Given the description of an element on the screen output the (x, y) to click on. 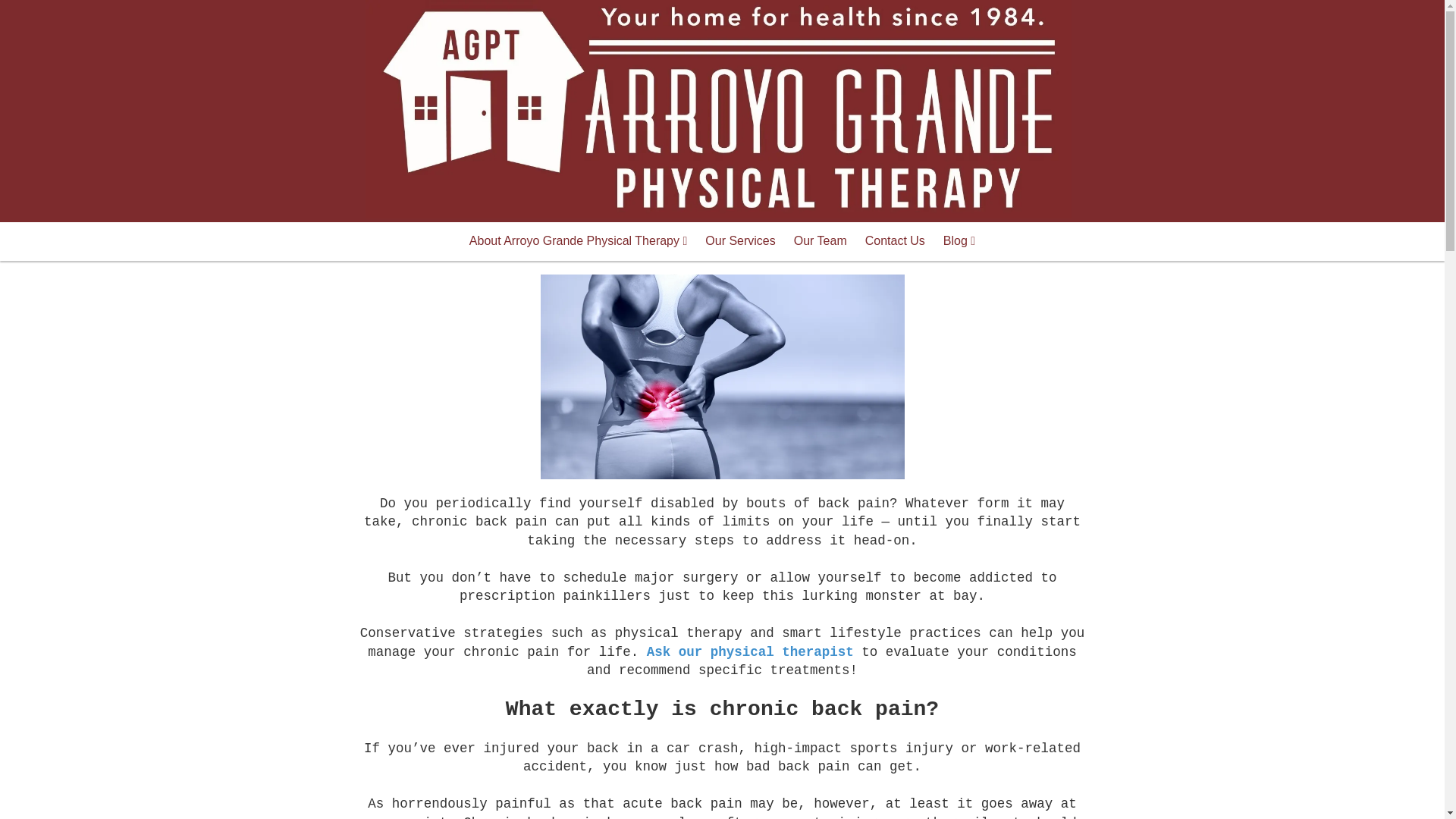
Our Services (739, 241)
Ask our physical therapist (749, 652)
Blog (959, 241)
About Arroyo Grande Physical Therapy (577, 241)
Our Team (820, 241)
Contact Us (895, 241)
